Given the description of an element on the screen output the (x, y) to click on. 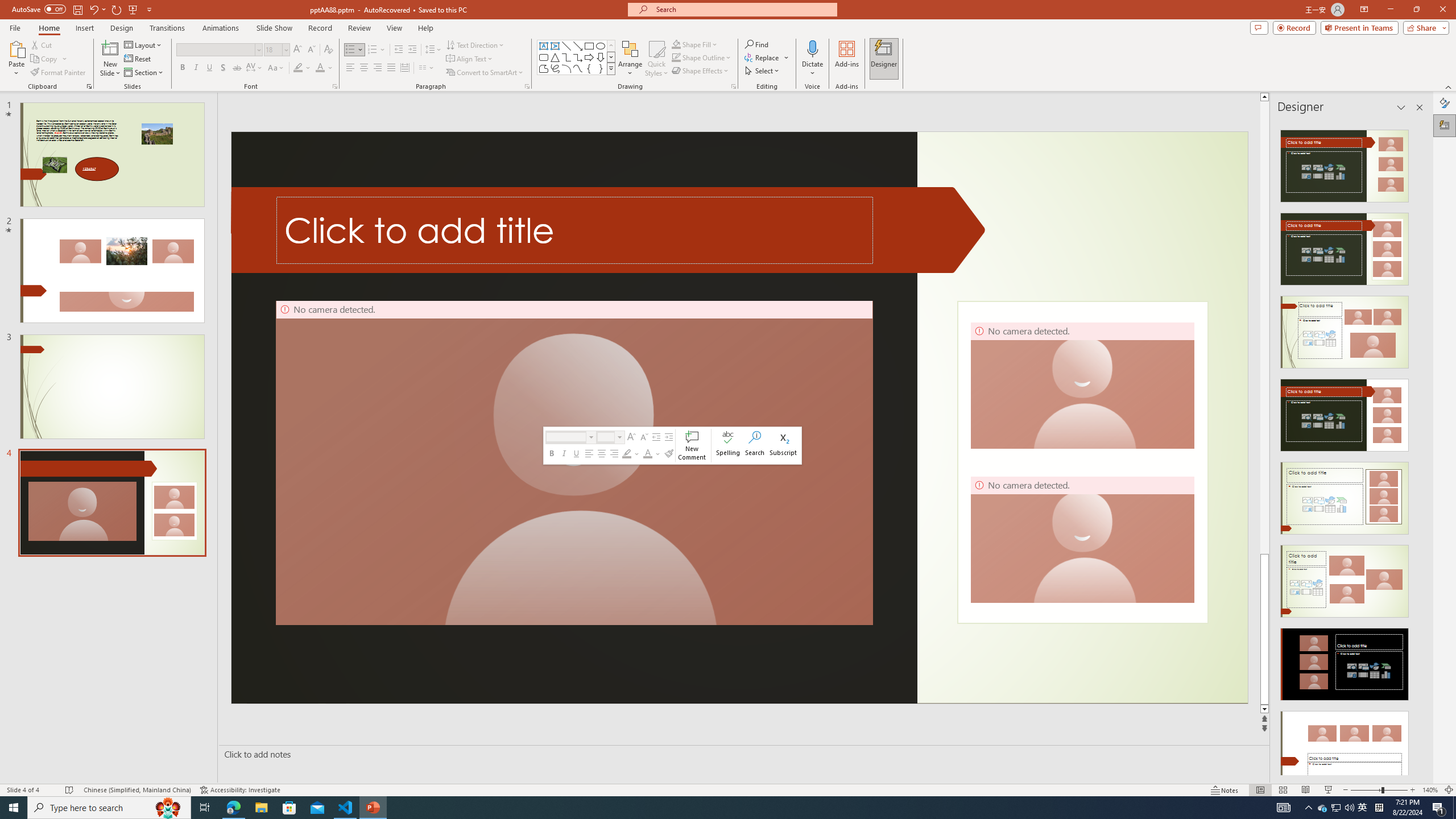
Decorative Locked (1082, 462)
Camera 4, No camera detected. (1082, 539)
Zoom 140% (1430, 790)
Class: NetUIComboboxAnchor (610, 436)
